Given the description of an element on the screen output the (x, y) to click on. 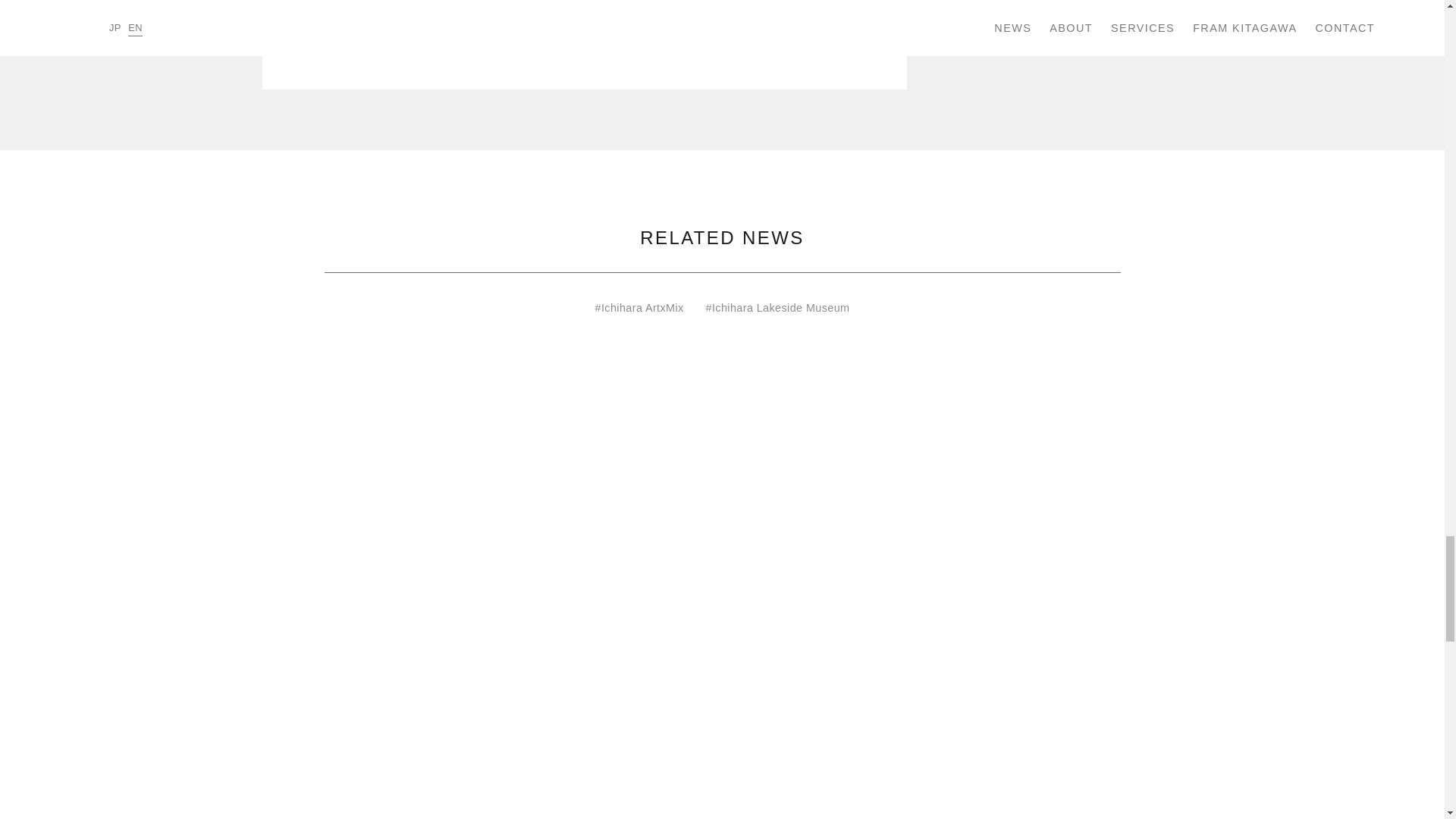
PREV (319, 49)
NEXT (849, 49)
